Given the description of an element on the screen output the (x, y) to click on. 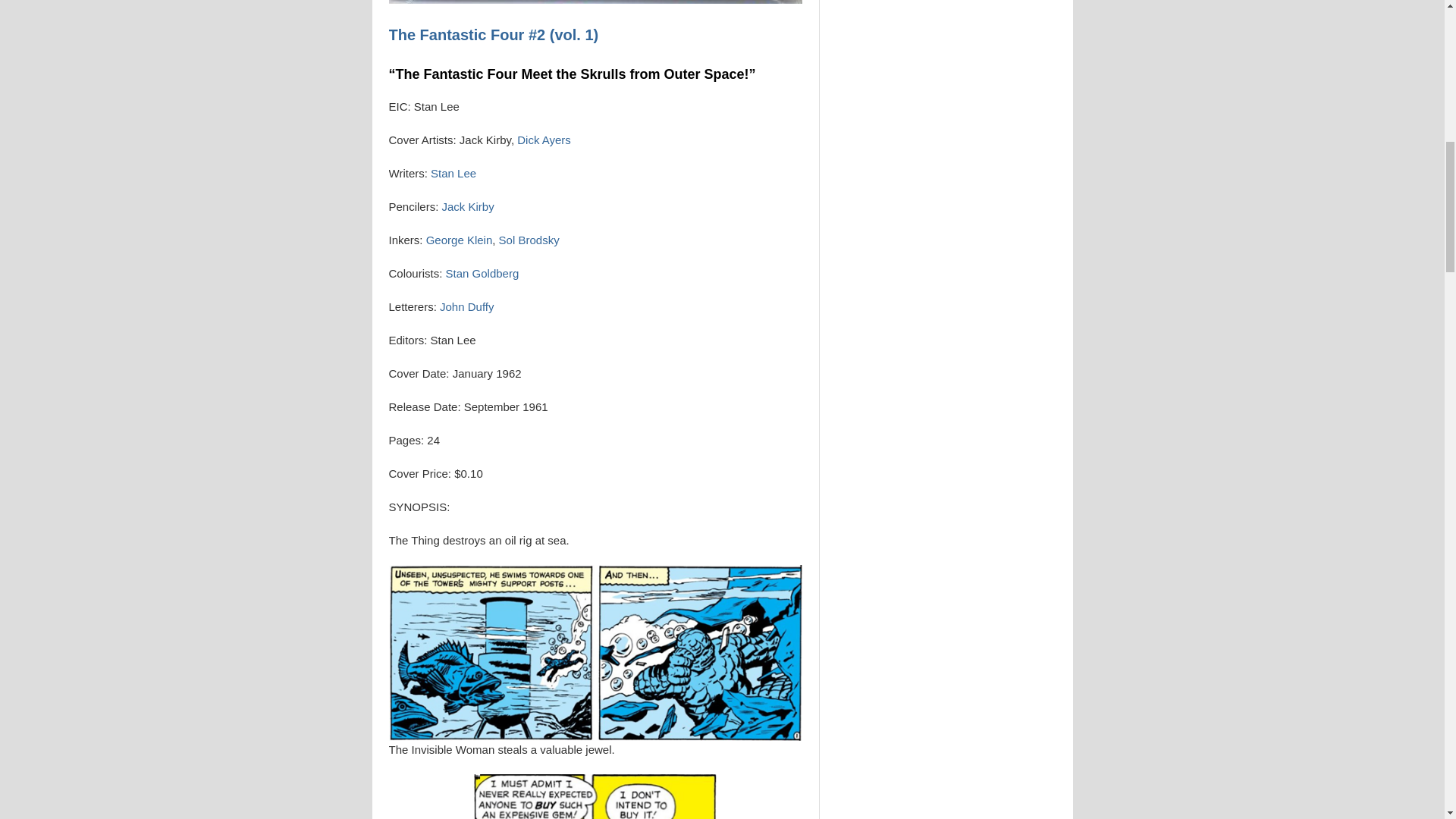
Stan Goldberg (482, 273)
Sol Brodsky (529, 239)
Jack Kirby (465, 205)
Dick Ayers (543, 139)
John Duffy (466, 306)
Stan Lee (453, 173)
George Klein (459, 239)
